Given the description of an element on the screen output the (x, y) to click on. 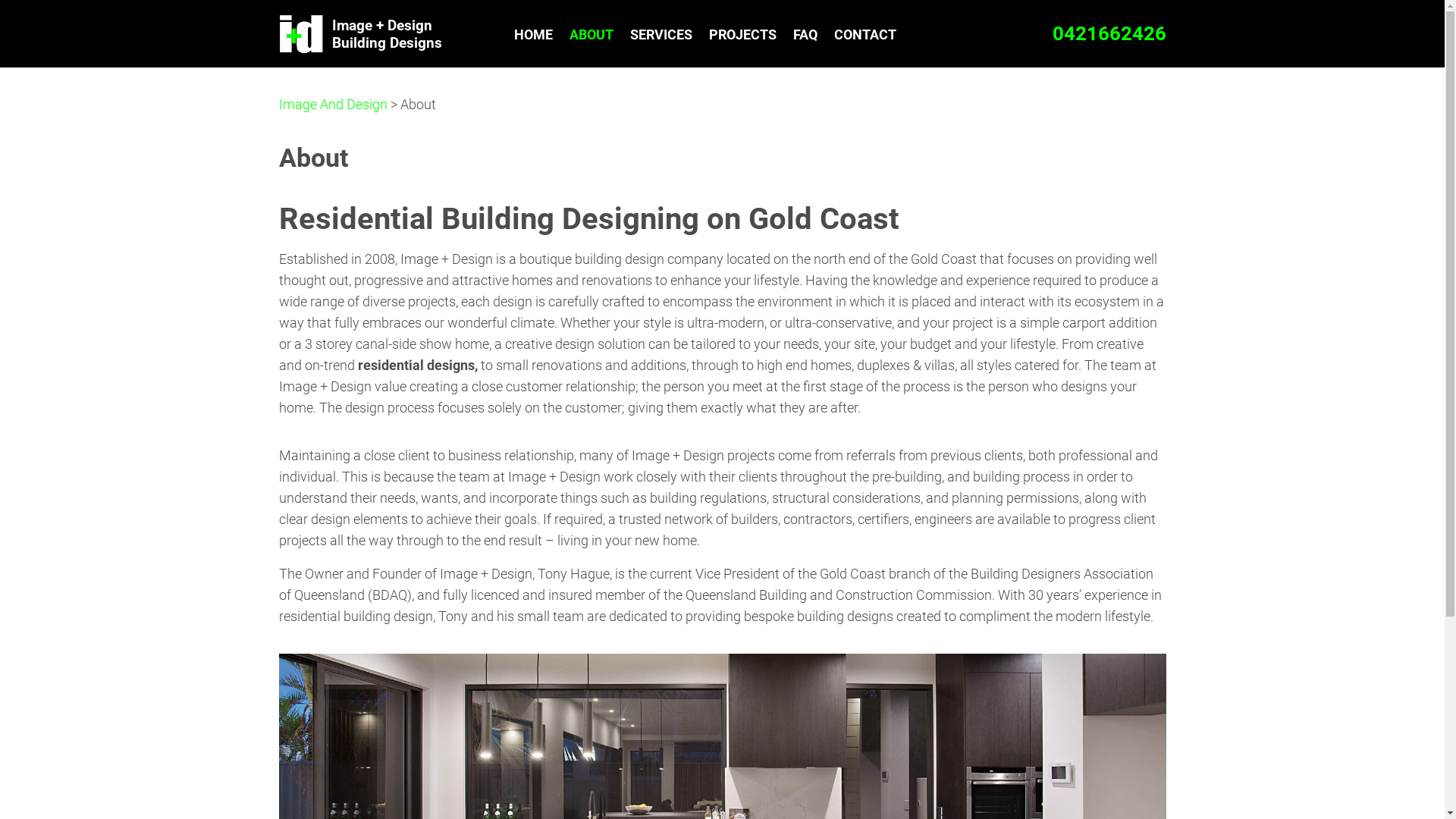
residential designs, Element type: text (417, 365)
FAQ Element type: text (805, 34)
Image + Design Building Designs Element type: text (381, 33)
SERVICES Element type: text (660, 34)
Image And Design Element type: text (333, 104)
0421662426 Element type: text (1109, 32)
Image And Design Element type: hover (301, 33)
HOME Element type: text (533, 34)
CONTACT Element type: text (864, 34)
ABOUT Element type: text (590, 34)
PROJECTS Element type: text (741, 34)
